Given the description of an element on the screen output the (x, y) to click on. 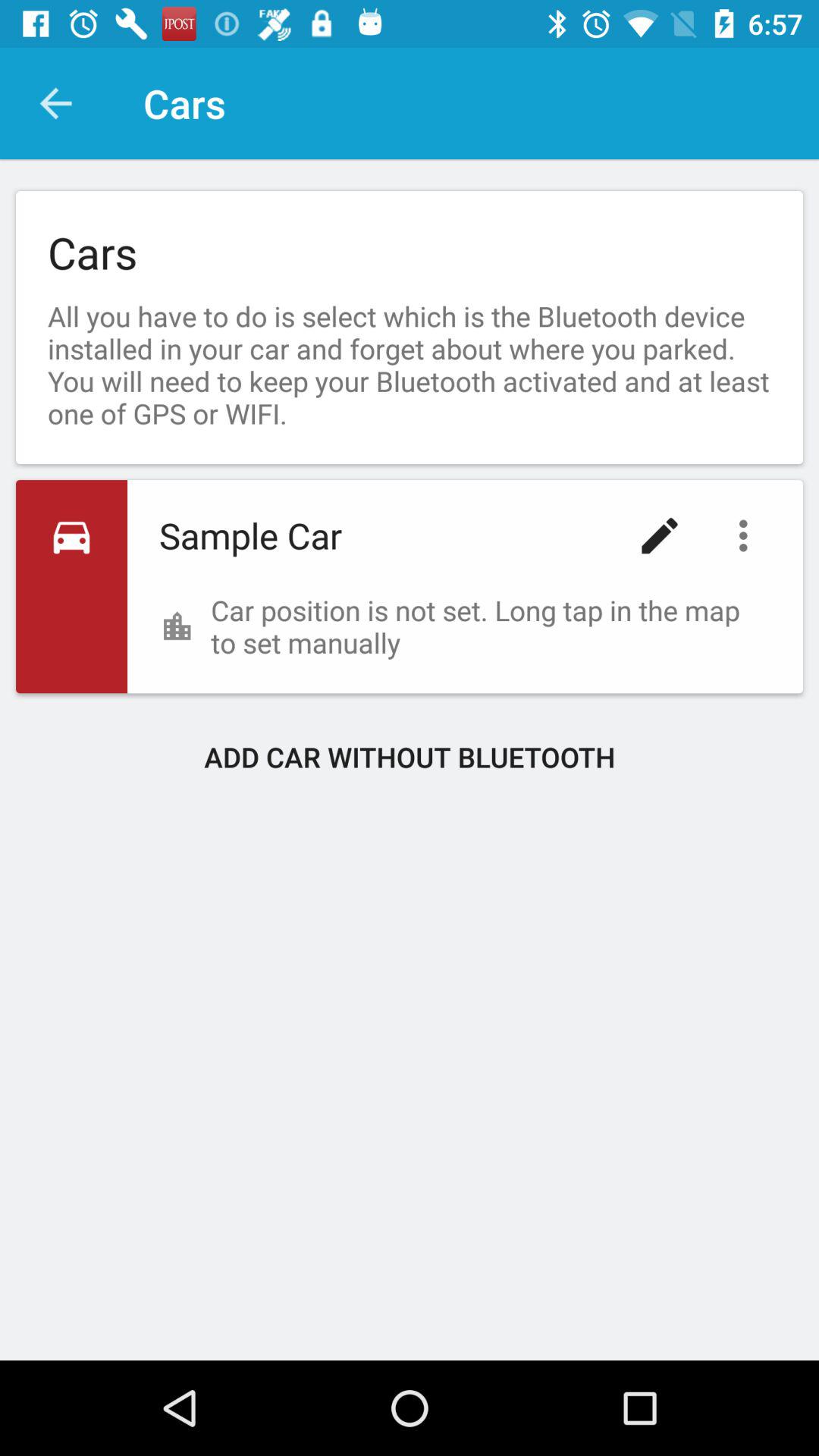
flip to add car without (409, 756)
